Given the description of an element on the screen output the (x, y) to click on. 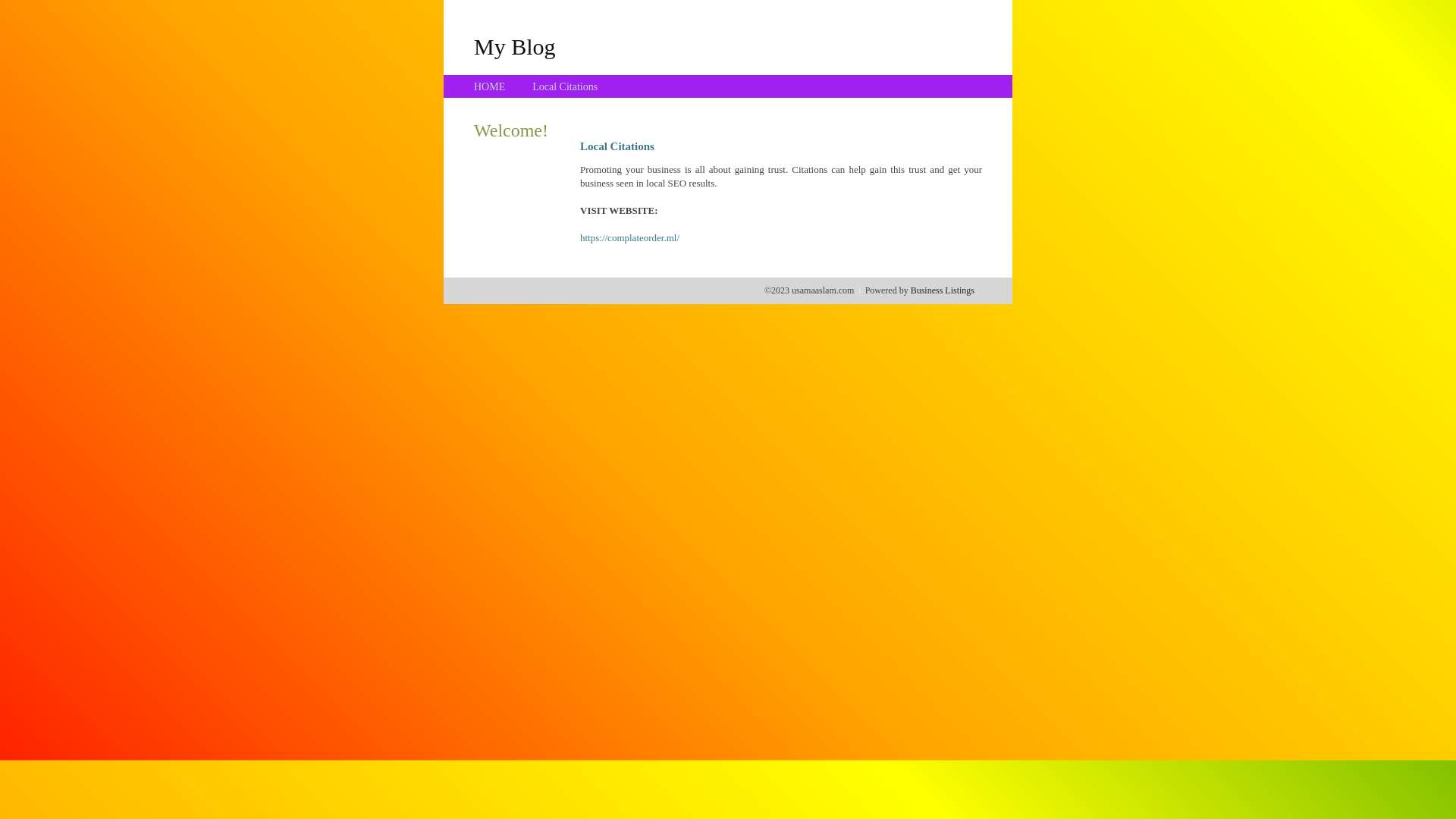
https://complateorder.ml/ Element type: text (629, 237)
Business Listings Element type: text (942, 290)
Local Citations Element type: text (564, 86)
HOME Element type: text (489, 86)
My Blog Element type: text (514, 46)
